Given the description of an element on the screen output the (x, y) to click on. 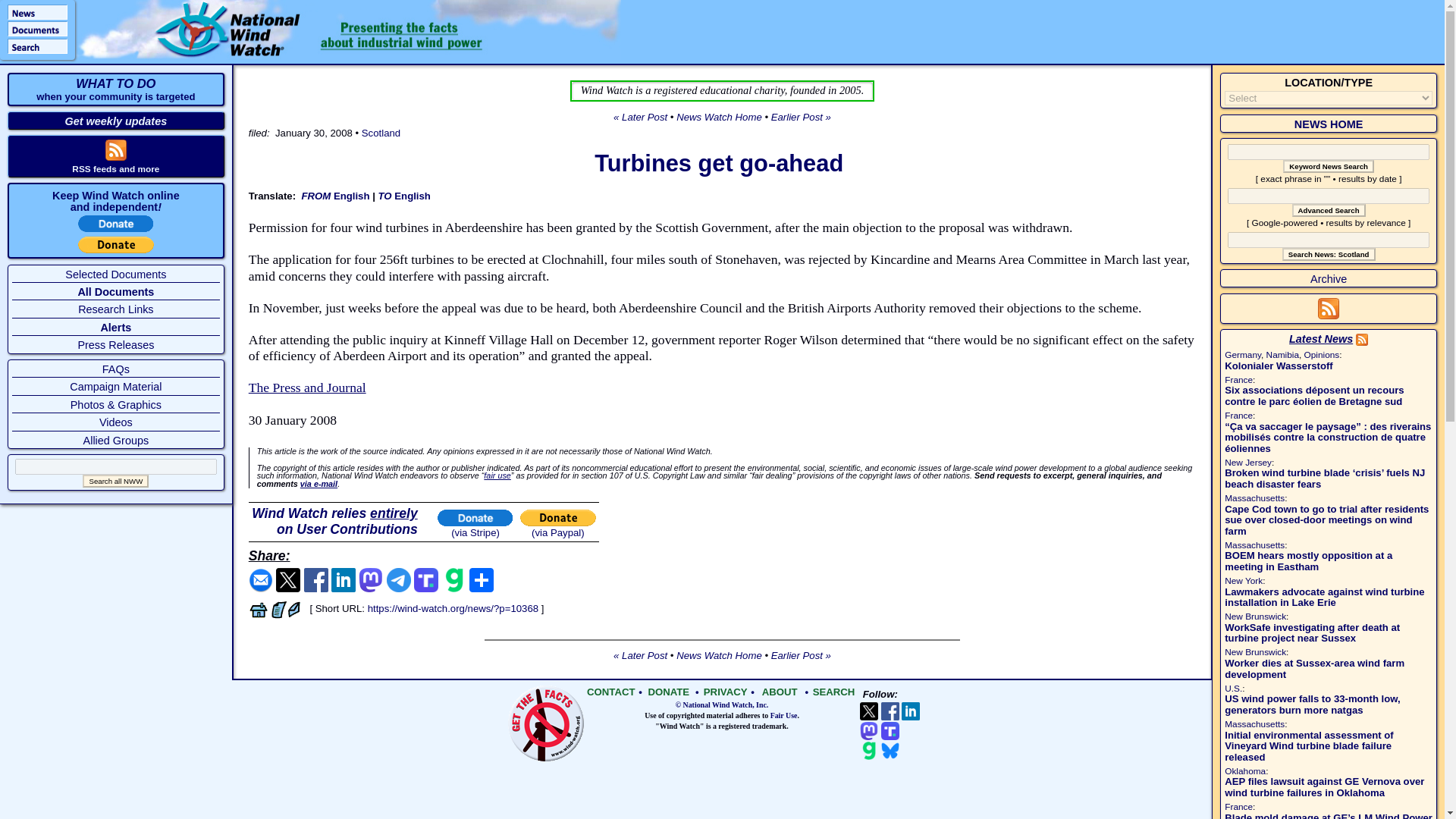
Massachusetts (1254, 498)
Advanced Search (1328, 210)
BOEM hears mostly opposition at a meeting in Eastham (1307, 560)
Namibia (1282, 354)
NEWS HOME (1328, 123)
Keyword News Search (1328, 165)
New Brunswick (1254, 615)
New York (1243, 580)
Search News: Scotland (1328, 254)
Germany (1242, 354)
